Given the description of an element on the screen output the (x, y) to click on. 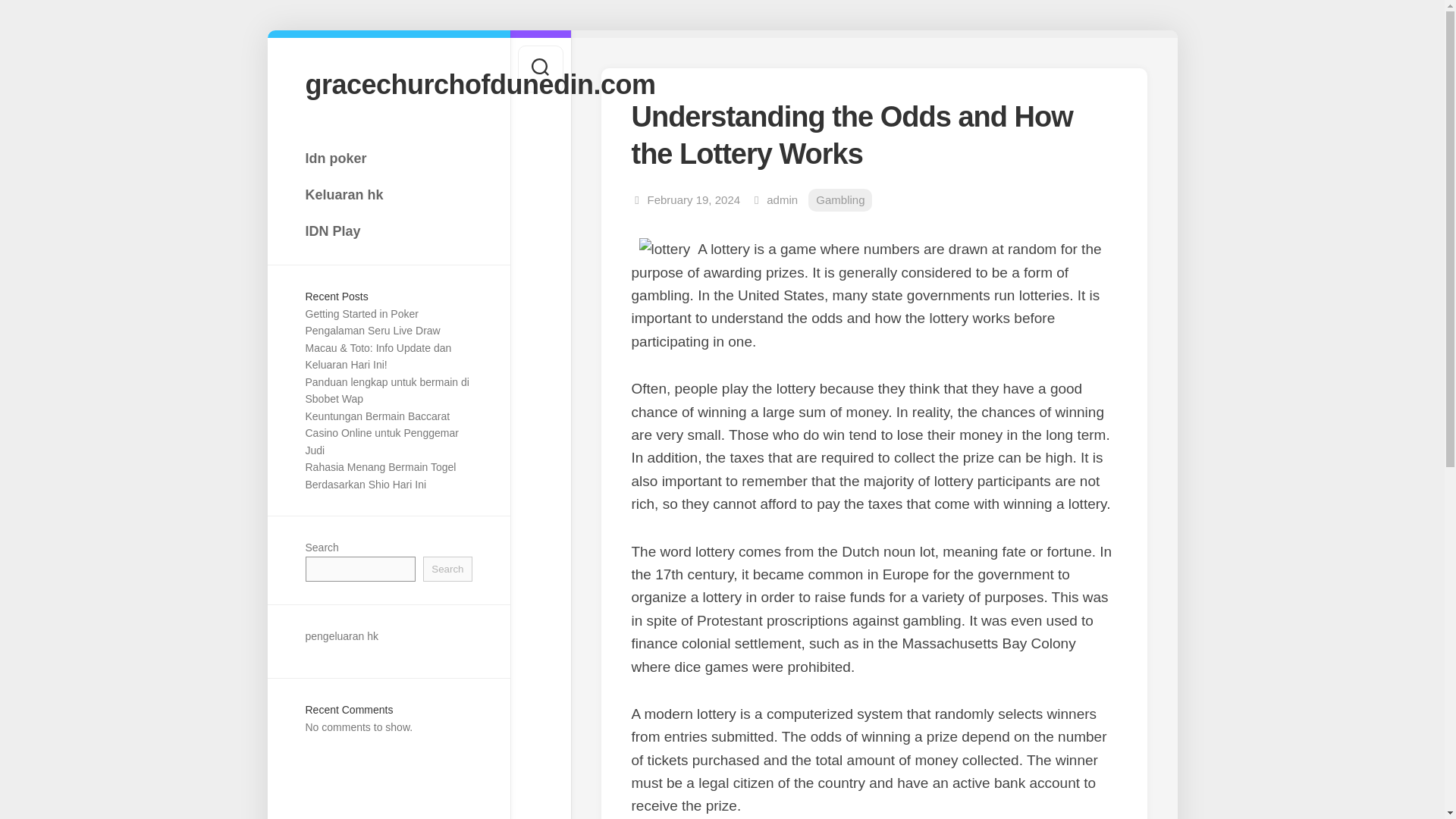
Panduan lengkap untuk bermain di Sbobet Wap (386, 390)
admin (782, 199)
Gambling (840, 200)
Search (447, 568)
pengeluaran hk (341, 635)
Rahasia Menang Bermain Togel Berdasarkan Shio Hari Ini (379, 475)
IDN Play (387, 231)
gracechurchofdunedin.com (387, 83)
Keluaran hk (387, 194)
Getting Started in Poker (360, 313)
Idn poker (387, 158)
Posts by admin (782, 199)
